Given the description of an element on the screen output the (x, y) to click on. 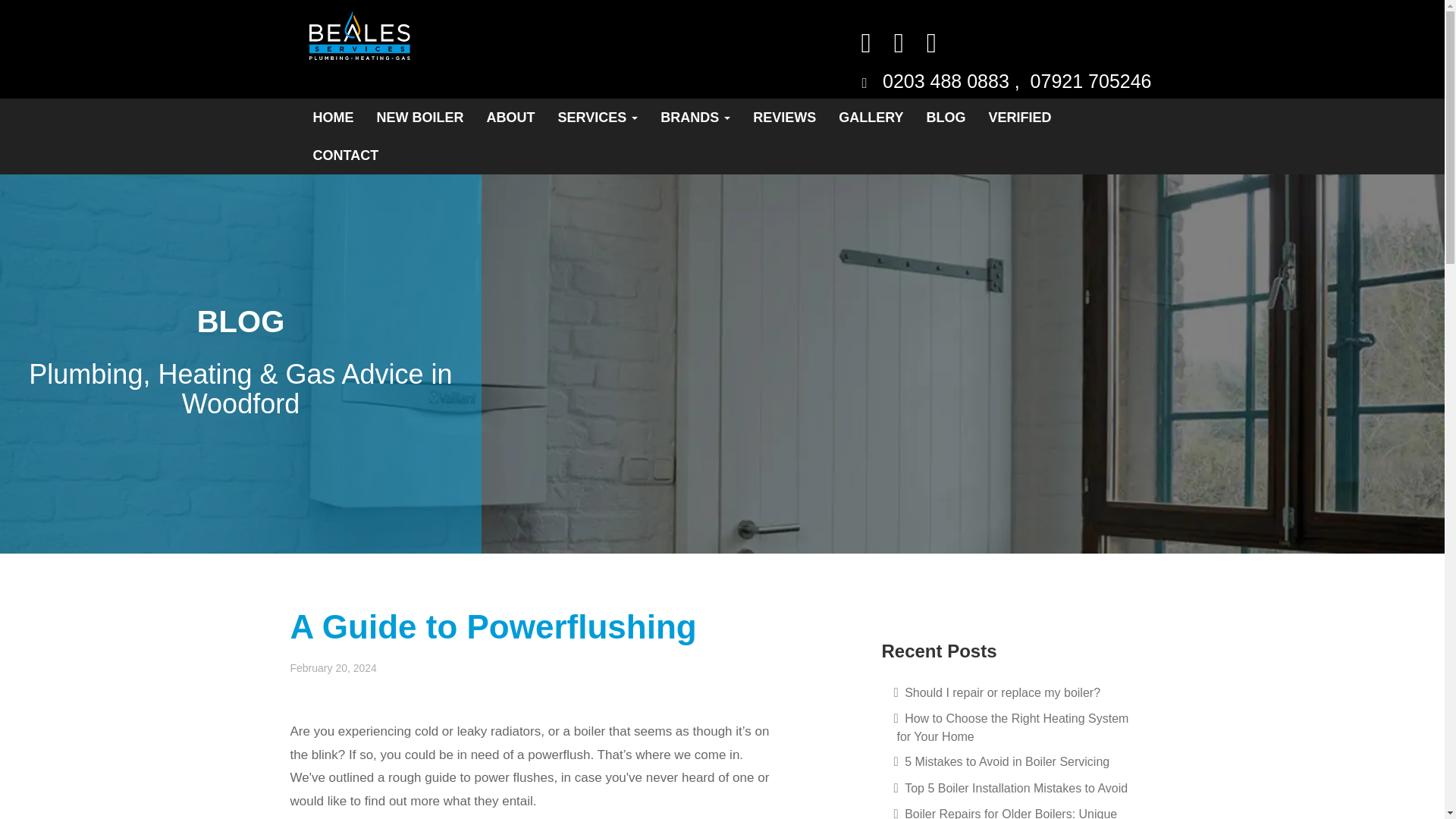
BLOG (945, 117)
07921 705246 (1090, 80)
CONTACT (345, 155)
VERIFIED (1019, 117)
How to Choose the Right Heating System for Your Home (1017, 727)
HOME (333, 117)
NEW BOILER (420, 117)
BRANDS (695, 117)
ABOUT (510, 117)
Should I repair or replace my boiler? (1017, 692)
